Given the description of an element on the screen output the (x, y) to click on. 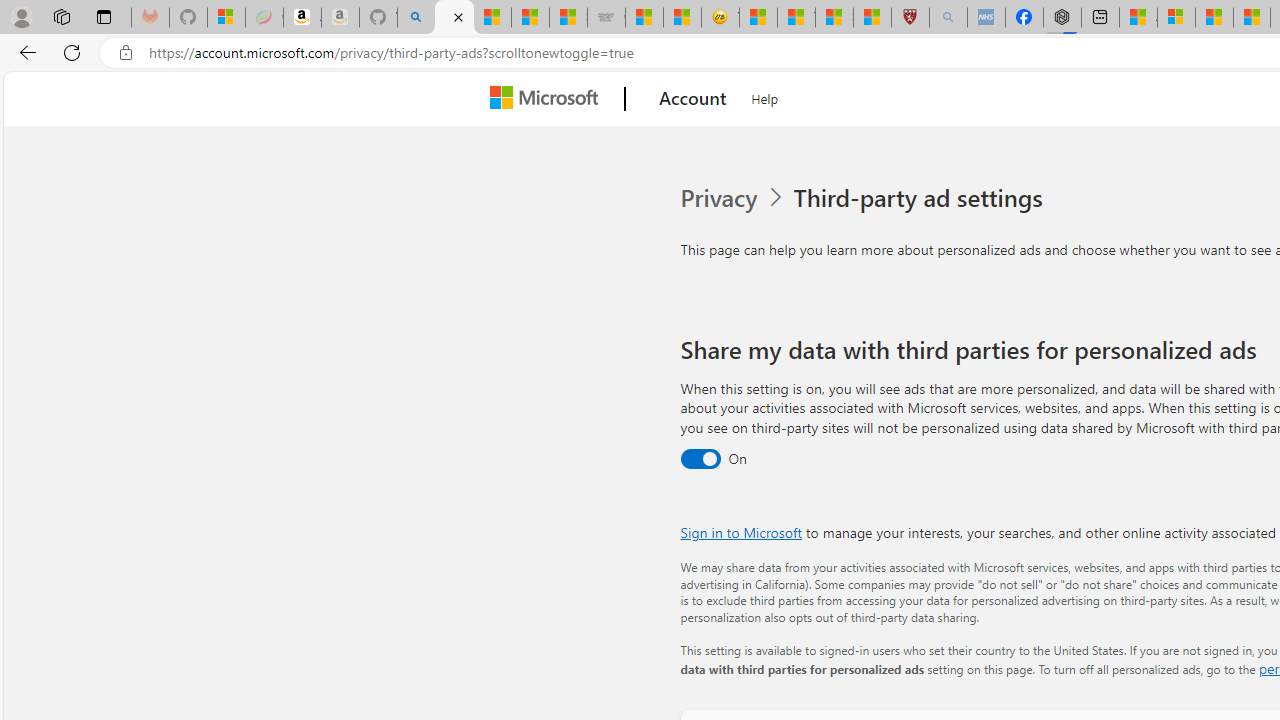
12 Popular Science Lies that Must be Corrected (871, 17)
Help (765, 96)
Recipes - MSN (757, 17)
Account (692, 99)
Help (765, 96)
